Given the description of an element on the screen output the (x, y) to click on. 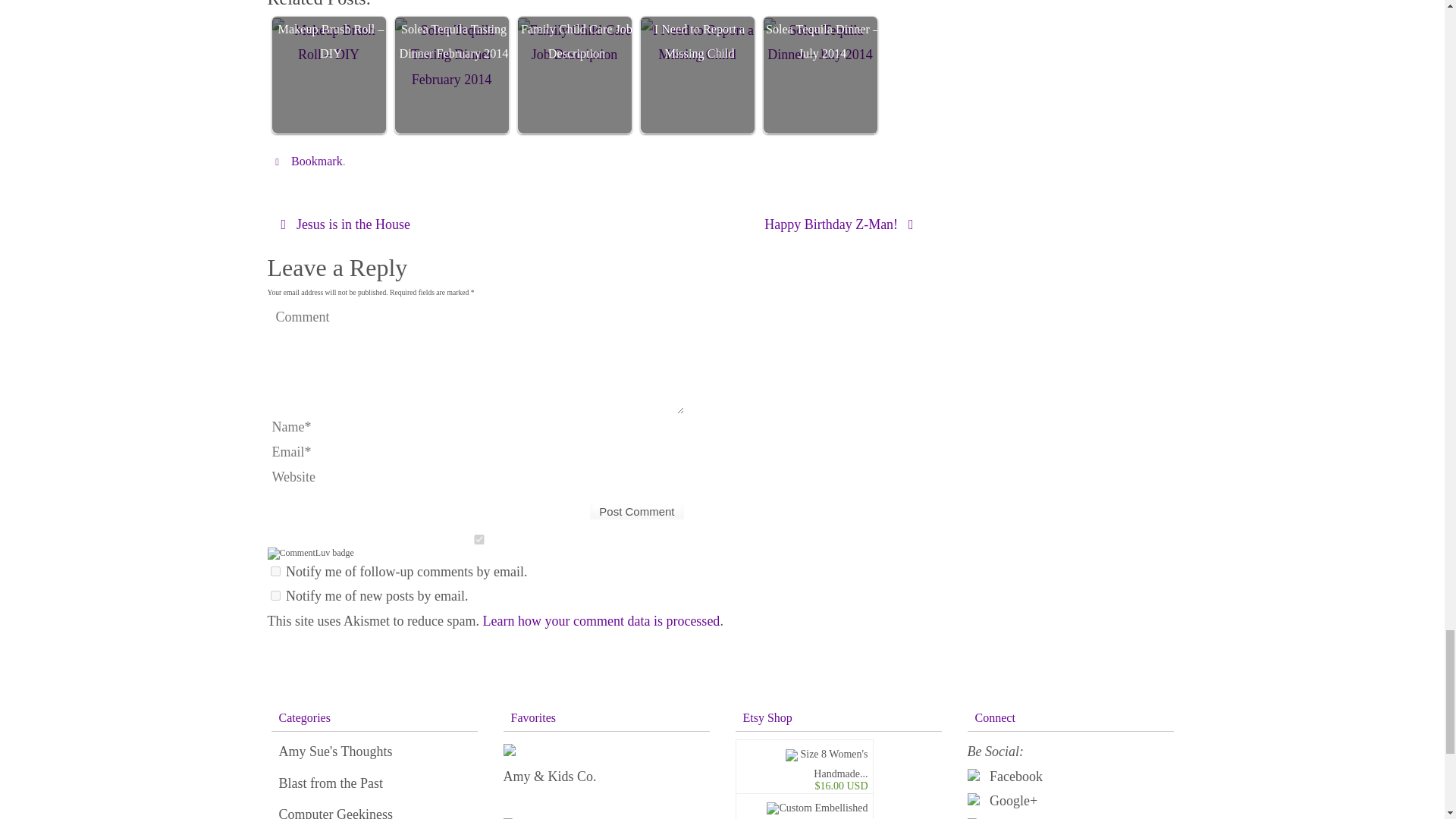
Solea Tequila Tasting Dinner February 2014 (451, 54)
Solea Tequila Tasting Dinner February 2014 (453, 74)
I Need to Report a Missing Child (697, 42)
subscribe (274, 571)
Bookmark (316, 161)
subscribe (274, 595)
on (478, 539)
I Need to Report a Missing Child (699, 74)
Post Comment (636, 511)
Happy Birthday Z-Man! (765, 224)
Post Comment (636, 511)
Learn how your comment data is processed (600, 620)
Family Child Care Job Description (573, 42)
Family Child Care Job Description (575, 74)
 Bookmark the permalink (278, 160)
